Given the description of an element on the screen output the (x, y) to click on. 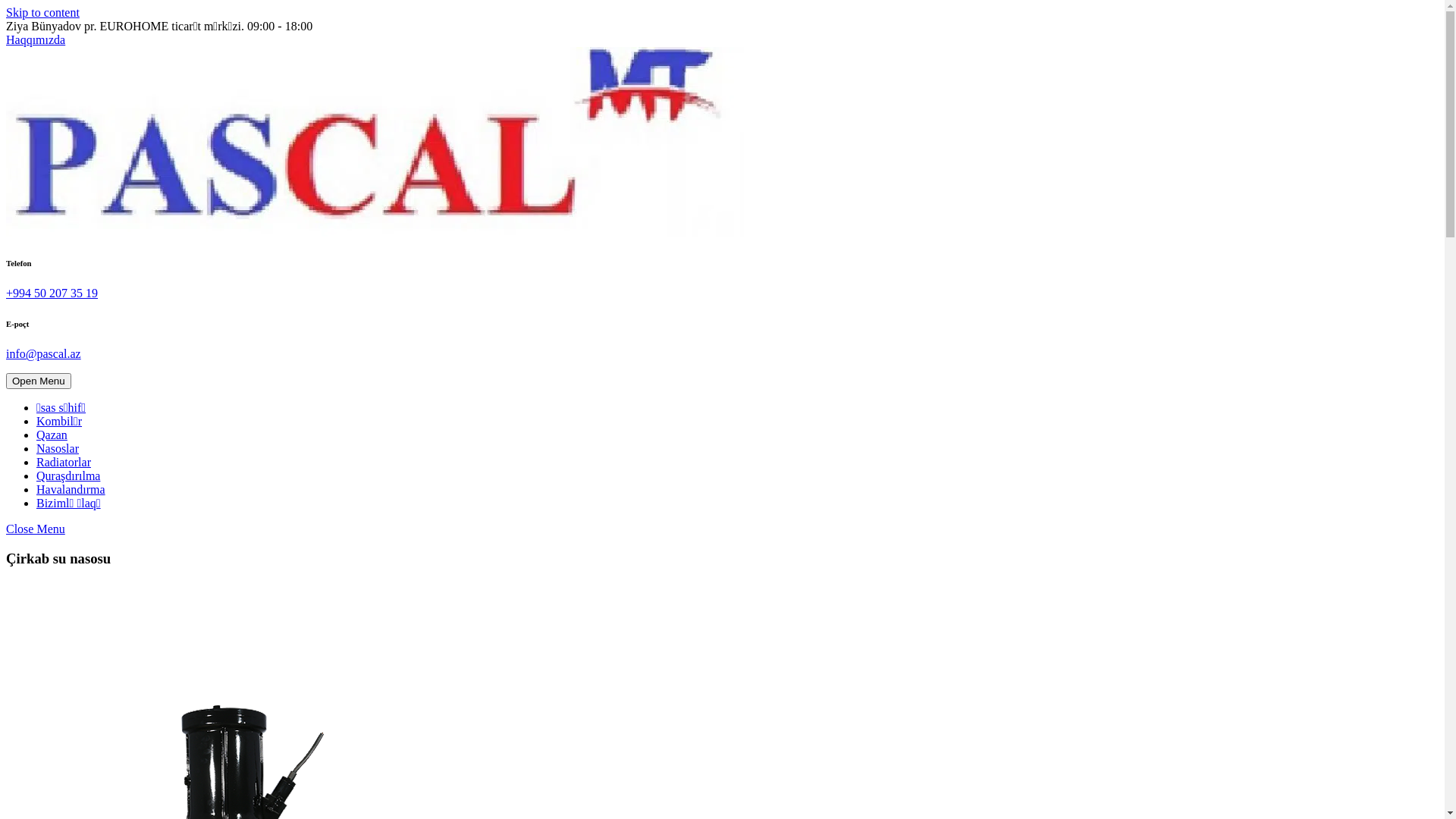
Close Menu Element type: text (35, 528)
Open Menu Element type: text (38, 381)
Nasoslar Element type: text (57, 448)
Skip to content Element type: text (42, 12)
info@pascal.az Element type: text (43, 353)
Qazan Element type: text (51, 434)
+994 50 207 35 19 Element type: text (51, 292)
Radiatorlar Element type: text (63, 461)
